Given the description of an element on the screen output the (x, y) to click on. 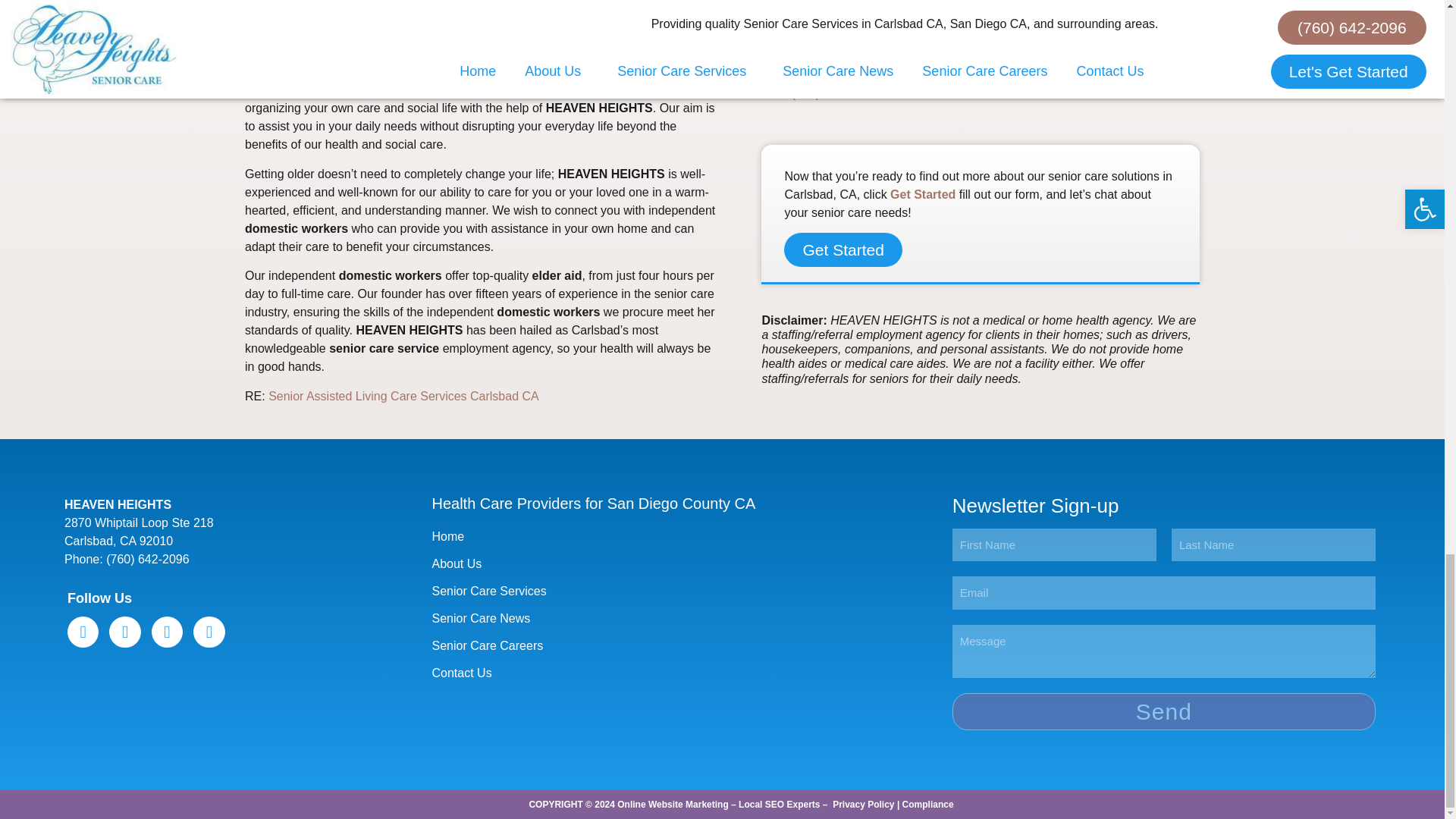
Online Website Marketing - Local SEO Experts (718, 804)
Privacy Policy (862, 804)
Compliance (927, 804)
